Given the description of an element on the screen output the (x, y) to click on. 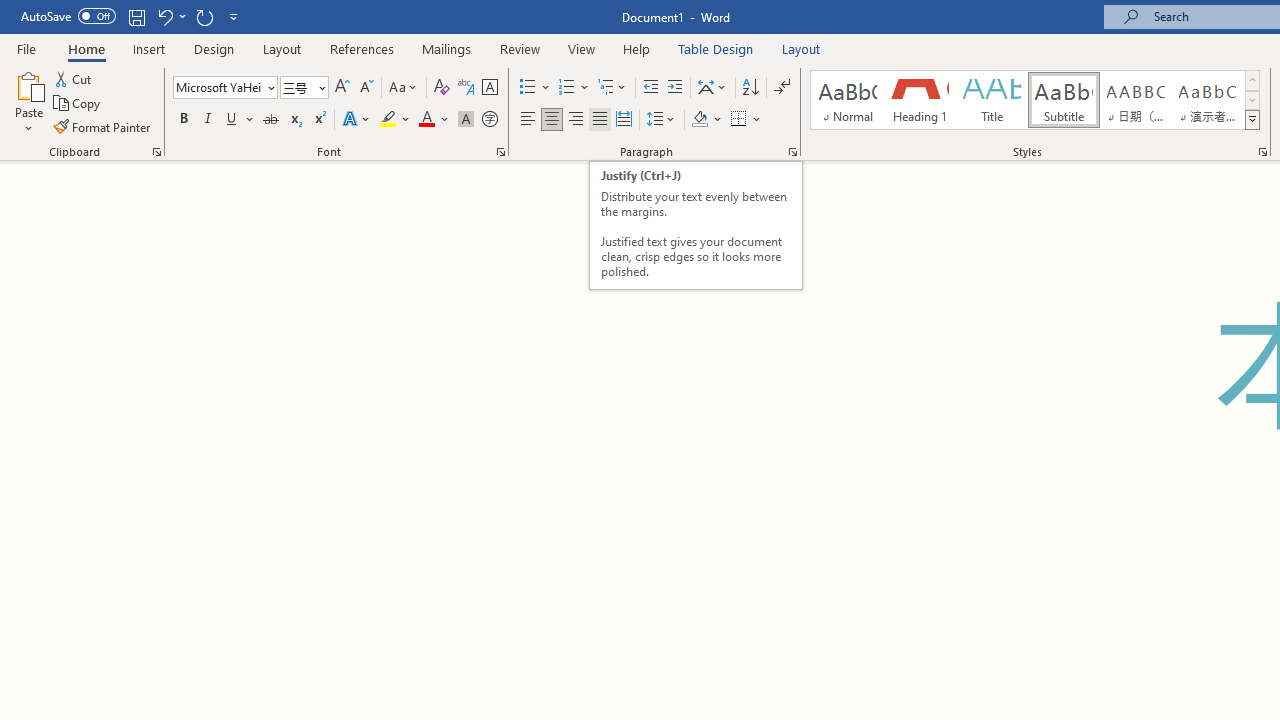
Font... (500, 151)
Superscript (319, 119)
AutomationID: QuickStylesGallery (1035, 99)
Shading RGB(0, 0, 0) (699, 119)
Open (320, 87)
Title (991, 100)
